Given the description of an element on the screen output the (x, y) to click on. 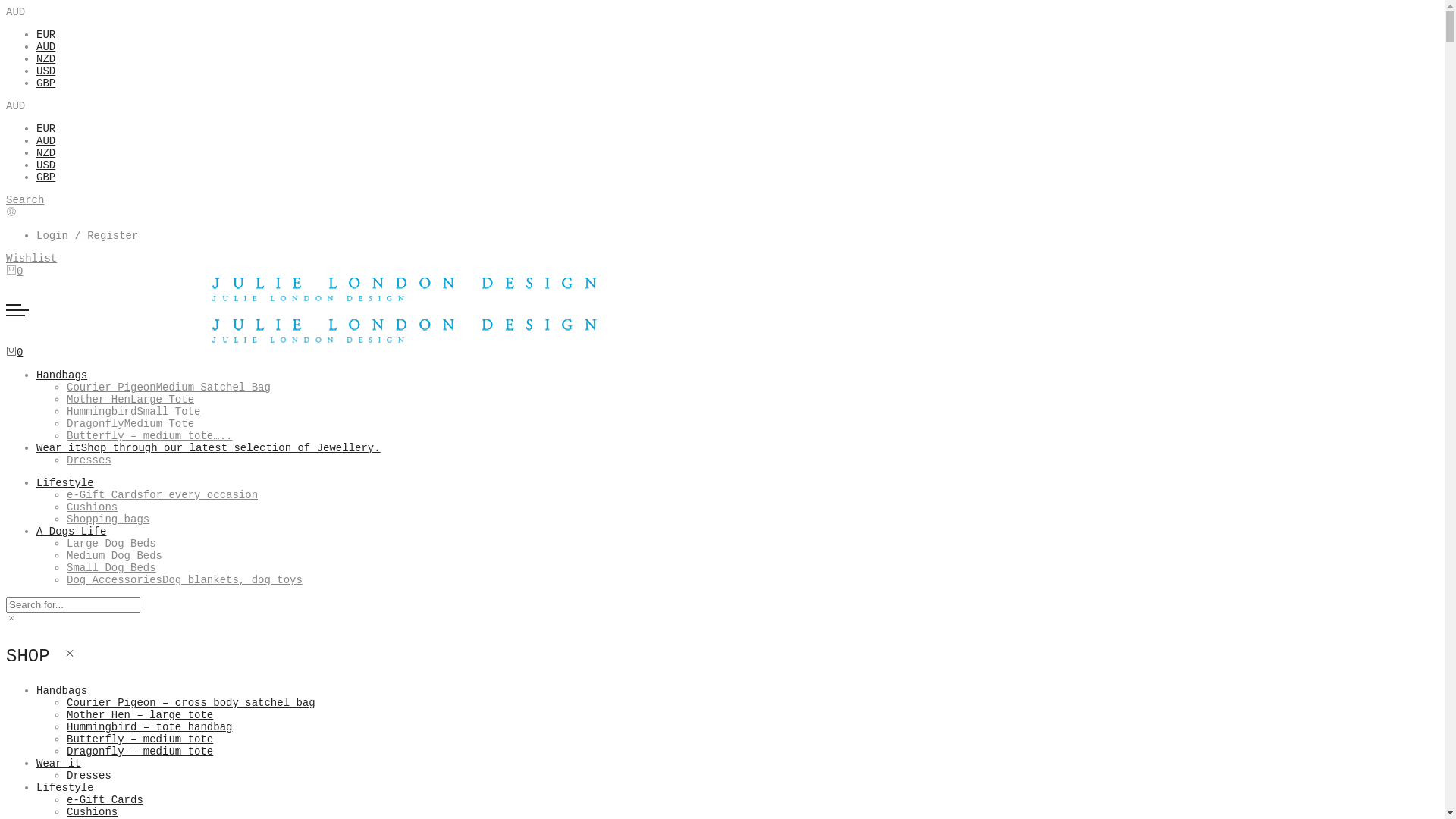
NZD Element type: text (45, 59)
EUR Element type: text (45, 128)
Dog AccessoriesDog blankets, dog toys Element type: text (184, 580)
Mother HenLarge Tote Element type: text (130, 399)
Dresses Element type: text (88, 775)
EUR Element type: text (45, 34)
Dresses Element type: text (88, 460)
AUD Element type: text (45, 140)
Shopping bags Element type: text (107, 519)
Cushions Element type: text (91, 812)
GBP Element type: text (45, 177)
AUD Element type: text (45, 46)
Handbags Element type: text (61, 375)
Cushions Element type: text (91, 507)
Wear itShop through our latest selection of Jewellery. Element type: text (208, 448)
GBP Element type: text (45, 83)
Wear it Element type: text (58, 763)
DragonflyMedium Tote Element type: text (130, 423)
Login / Register Element type: text (87, 235)
Small Dog Beds Element type: text (111, 567)
A Dogs Life Element type: text (71, 531)
Lifestyle Element type: text (65, 482)
e-Gift Cards Element type: text (104, 799)
0 Element type: text (14, 352)
NZD Element type: text (45, 153)
HummingbirdSmall Tote Element type: text (133, 411)
e-Gift Cardsfor every occasion Element type: text (161, 495)
Medium Dog Beds Element type: text (114, 555)
Wishlist Element type: text (31, 258)
Search Element type: text (24, 200)
USD Element type: text (45, 71)
USD Element type: text (45, 165)
Lifestyle Element type: text (65, 787)
Large Dog Beds Element type: text (111, 543)
0 Element type: text (14, 271)
Handbags Element type: text (61, 690)
Courier PigeonMedium Satchel Bag Element type: text (168, 387)
